Given the description of an element on the screen output the (x, y) to click on. 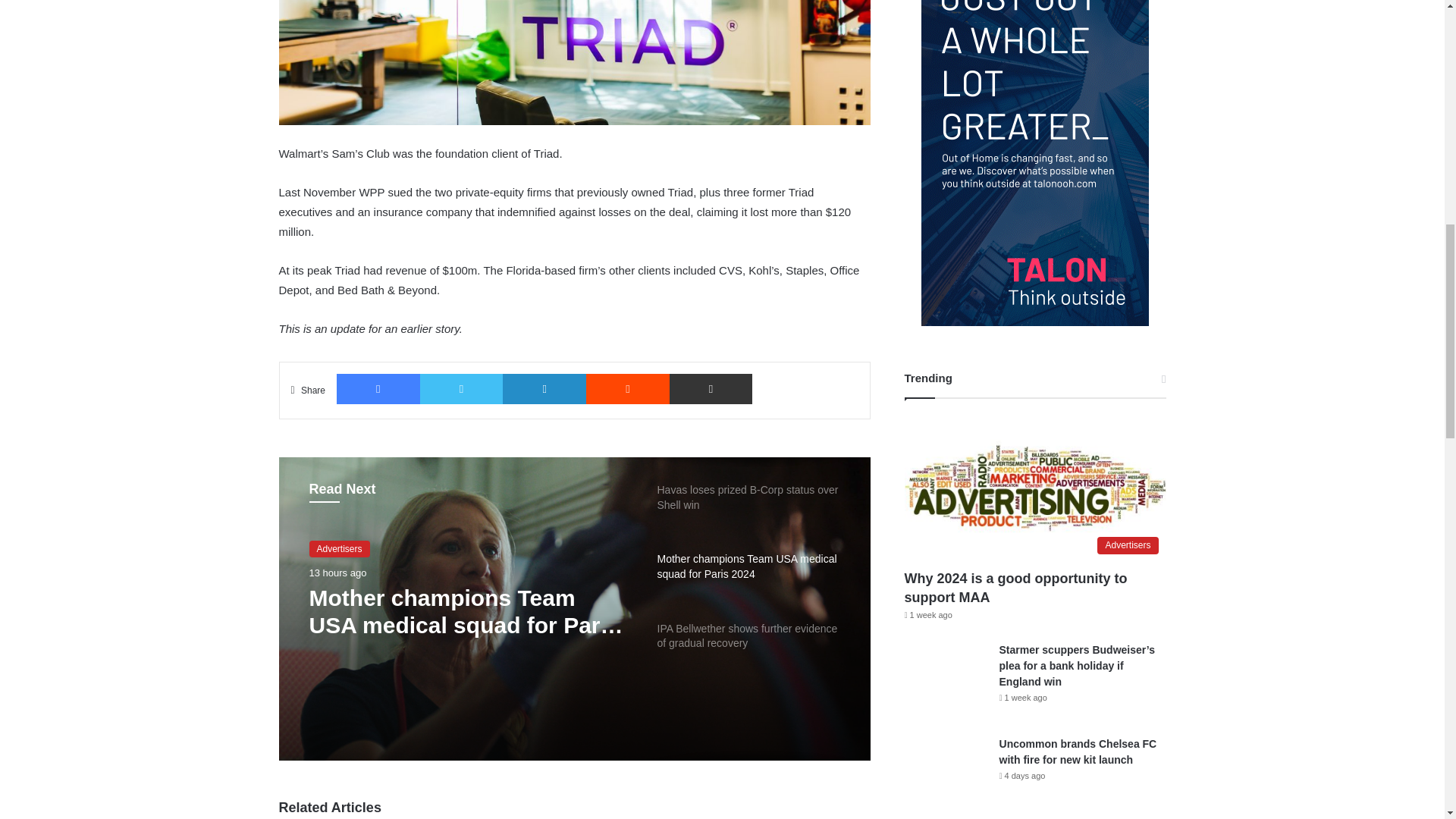
Twitter (461, 388)
Reddit (627, 388)
Facebook (378, 388)
LinkedIn (544, 388)
LinkedIn (544, 388)
Share via Email (710, 388)
Reddit (627, 388)
Twitter (461, 388)
Facebook (378, 388)
Share via Email (710, 388)
